Given the description of an element on the screen output the (x, y) to click on. 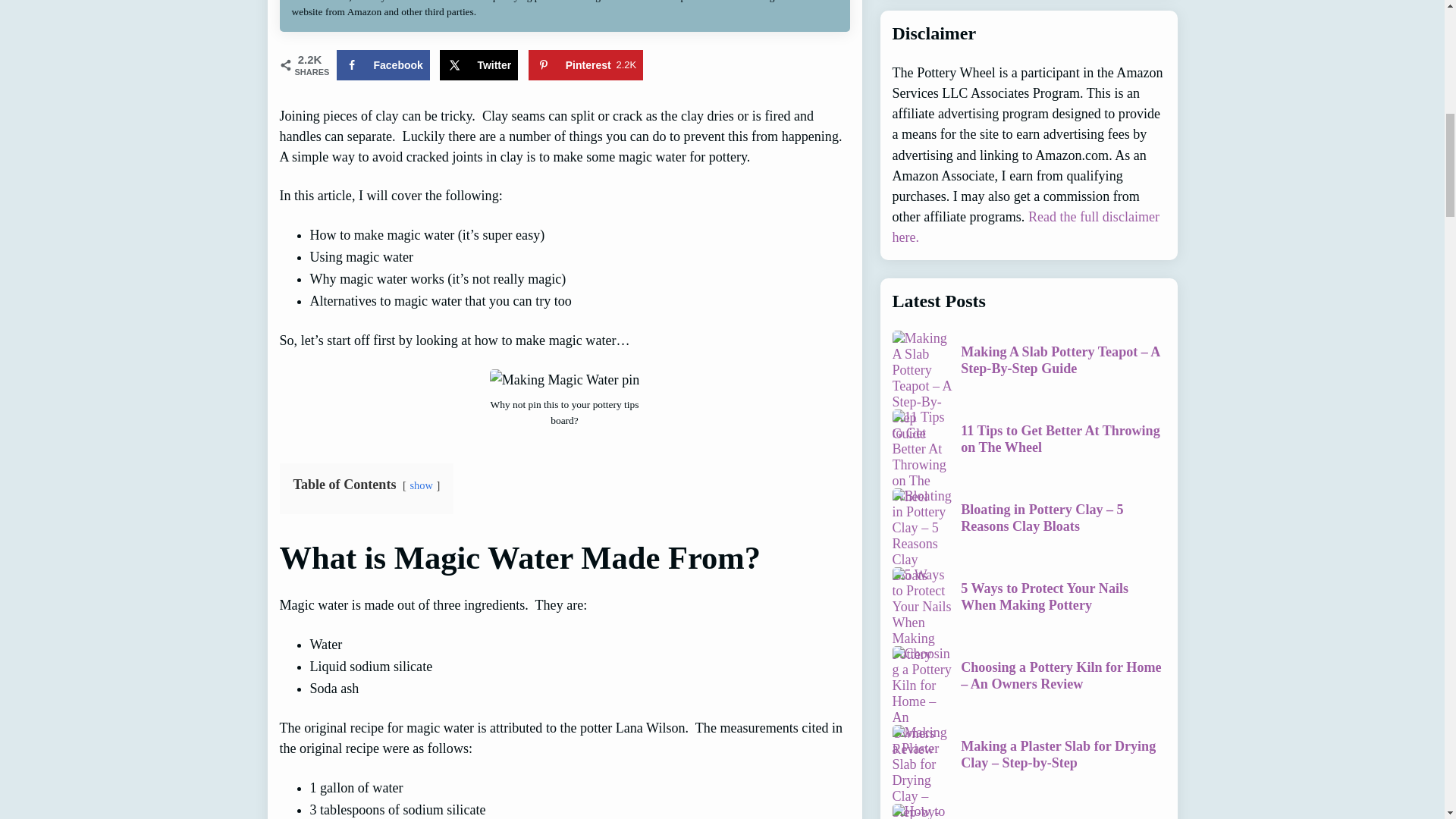
Share on Facebook (382, 64)
Share on X (478, 64)
show (420, 485)
Twitter (478, 64)
Facebook (382, 64)
Save to Pinterest (585, 64)
